Given the description of an element on the screen output the (x, y) to click on. 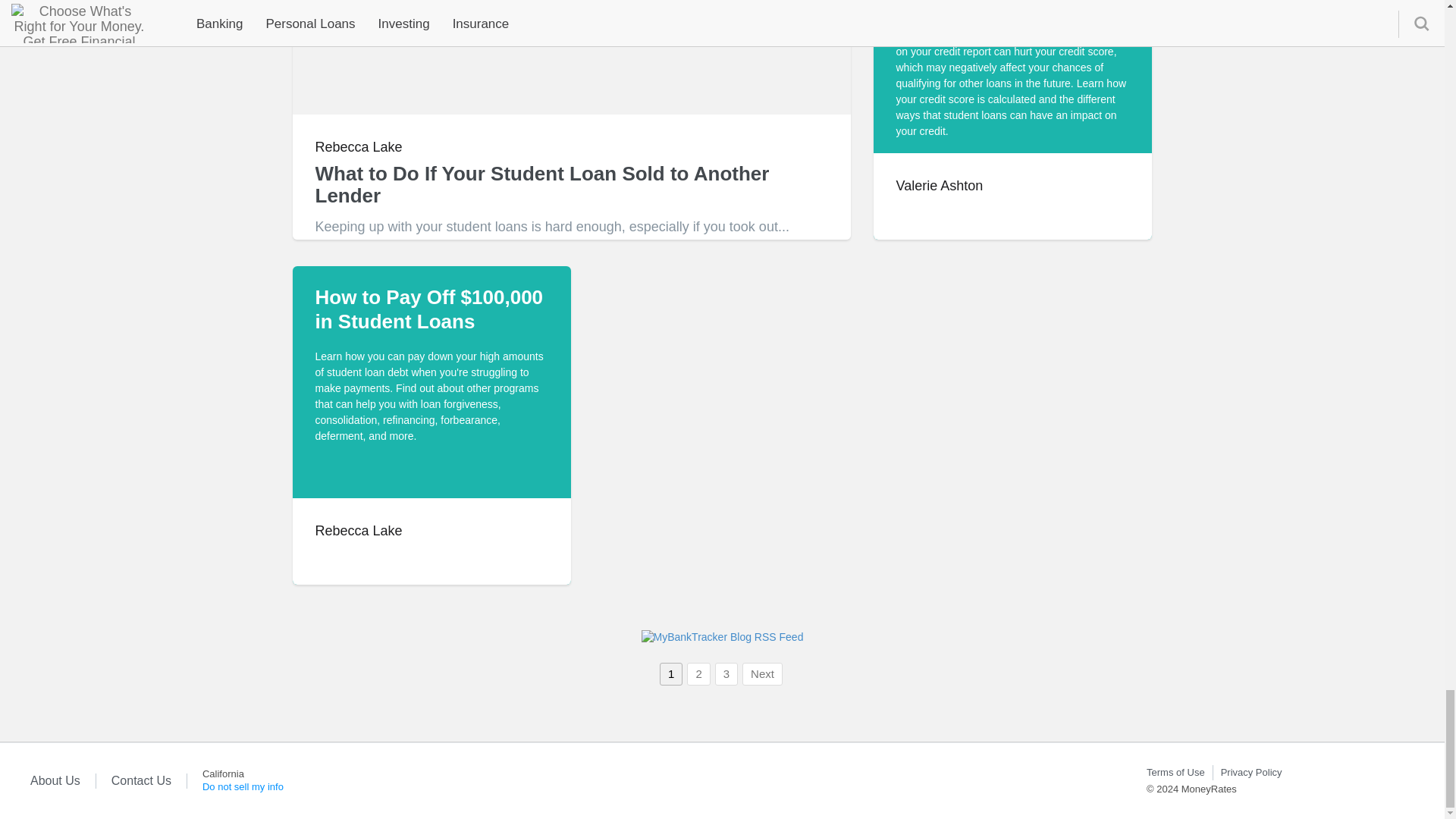
X (1323, 780)
MyBankTracker Blog RSS Feed (722, 637)
Facebook (1391, 780)
